Given the description of an element on the screen output the (x, y) to click on. 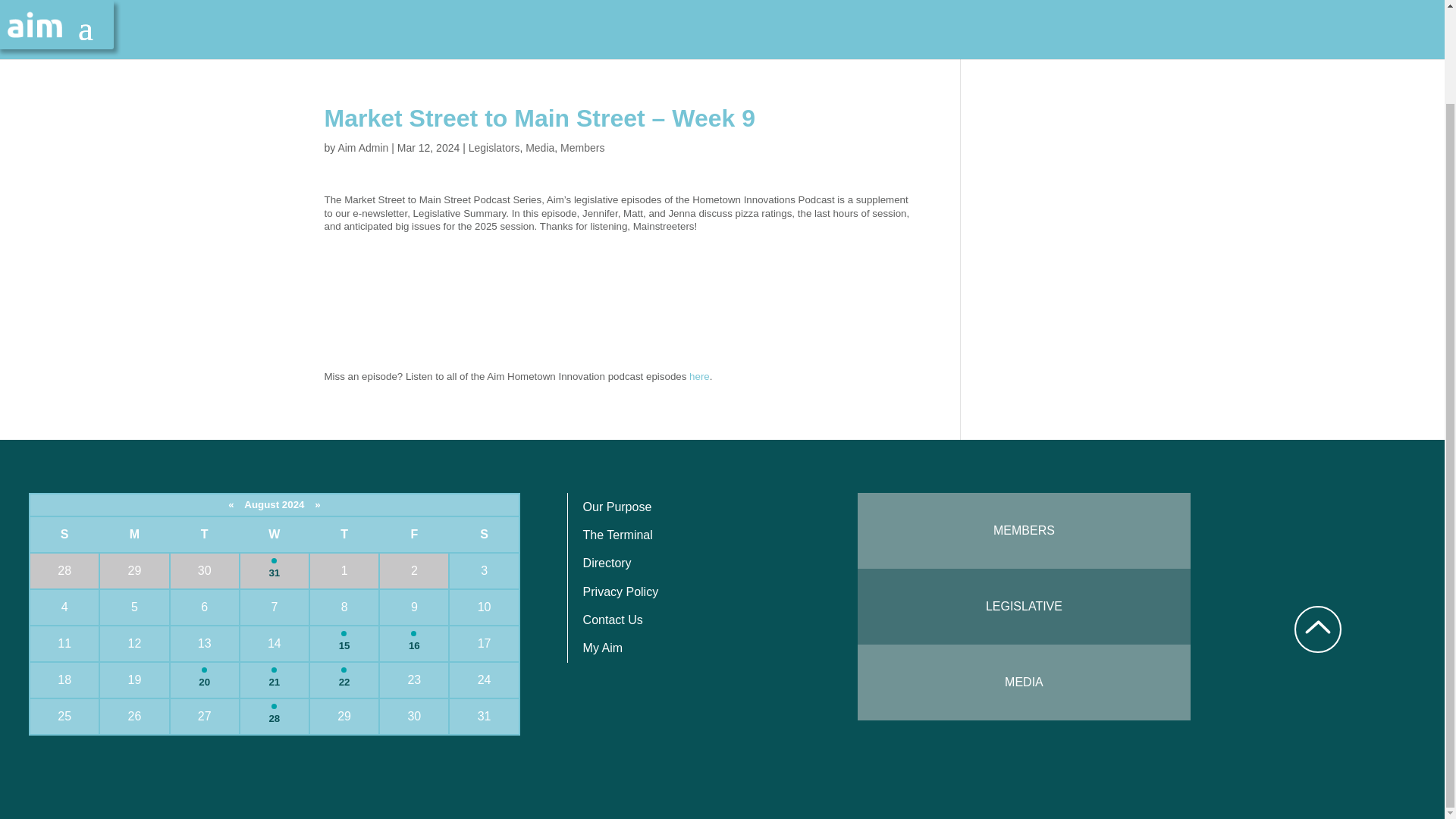
Posts by Aim Admin (362, 147)
White Circle Arrow Up (1317, 629)
Market Street to Main Street: March 12 (617, 299)
